Given the description of an element on the screen output the (x, y) to click on. 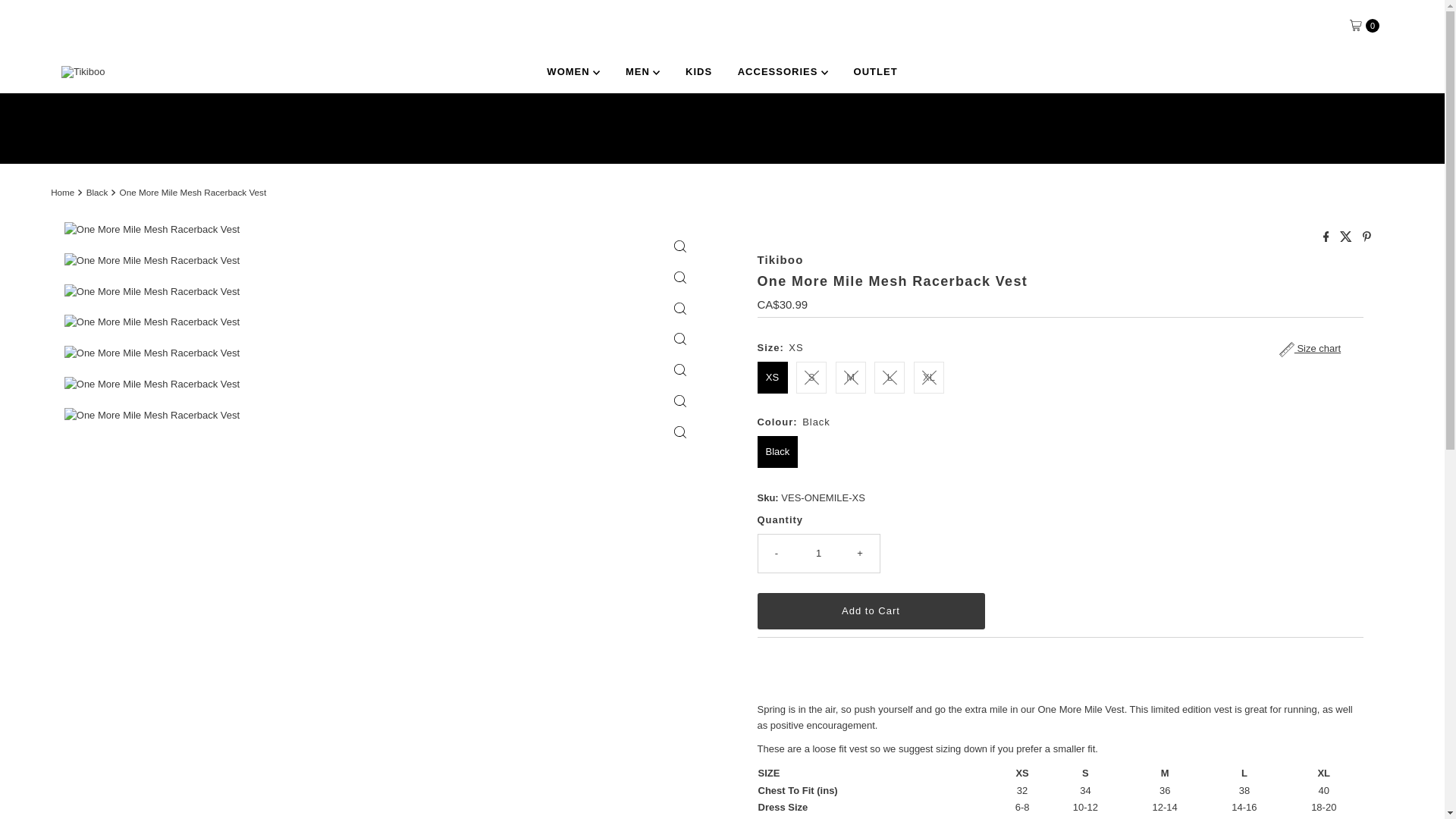
Skip to content (49, 18)
Back to the frontpage (64, 192)
Share on Twitter (1347, 237)
1 (818, 553)
Add to Cart (870, 610)
